Given the description of an element on the screen output the (x, y) to click on. 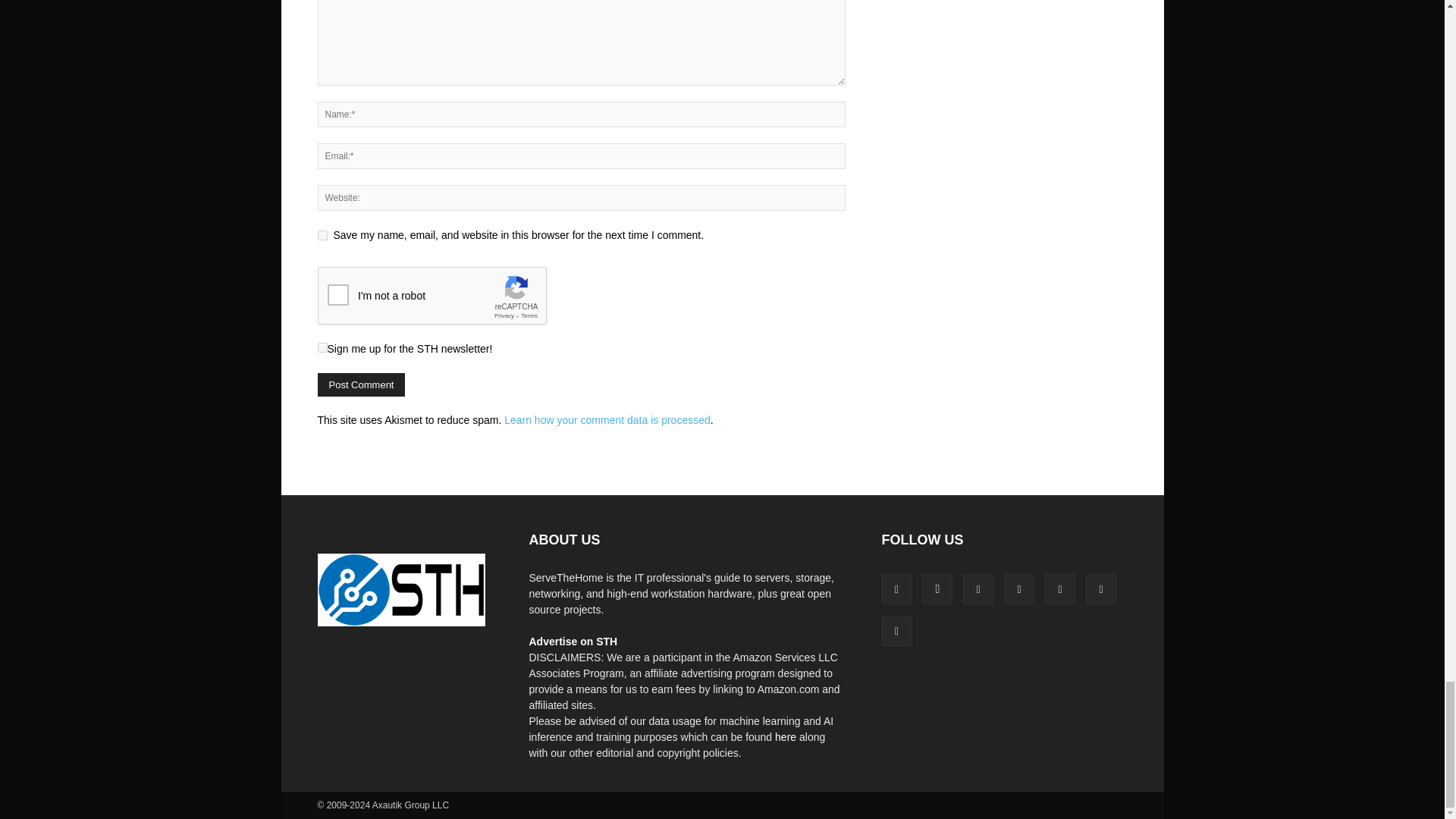
1 (321, 347)
Post Comment (360, 384)
yes (321, 235)
